Given the description of an element on the screen output the (x, y) to click on. 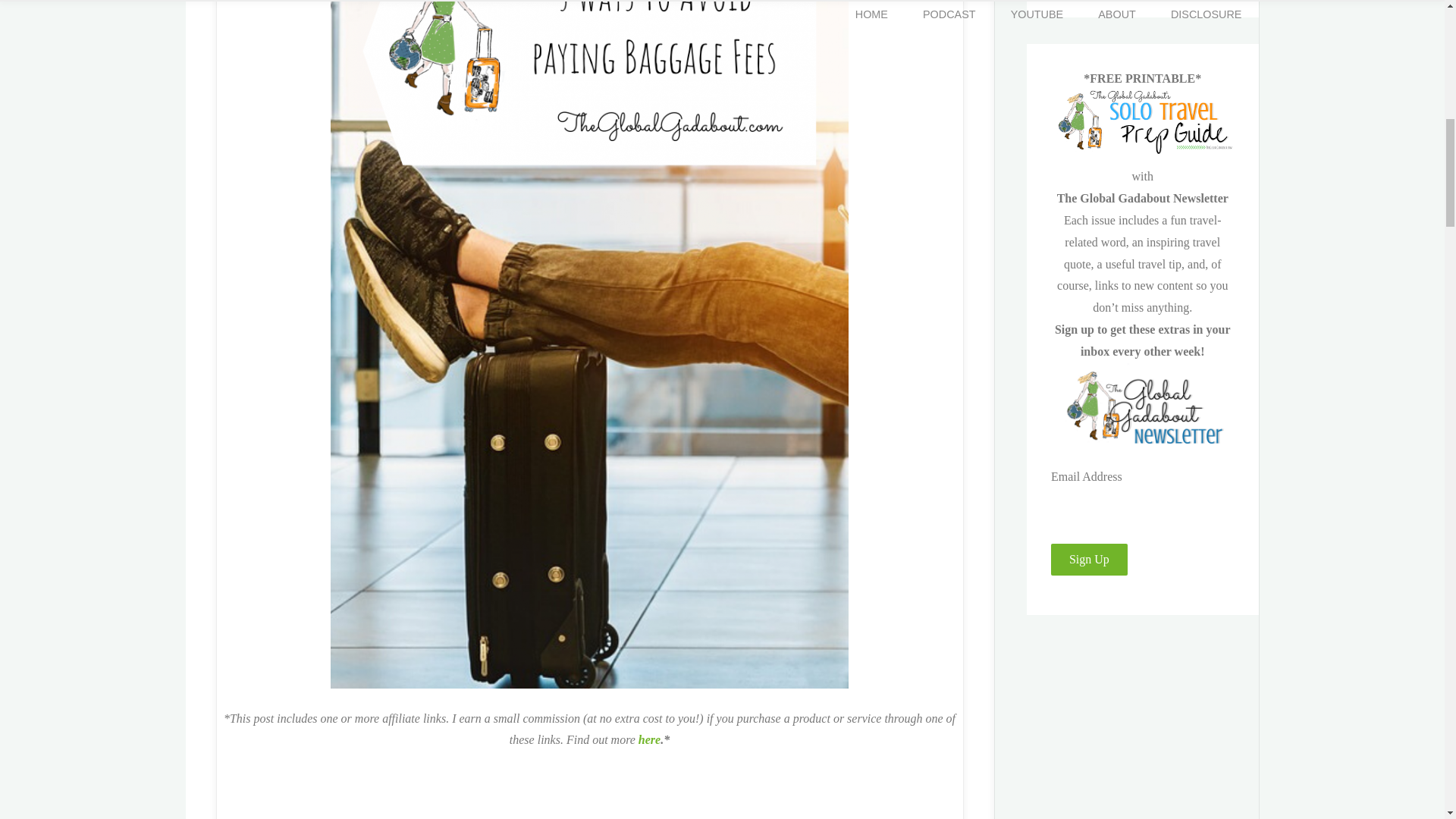
Sign Up (1088, 559)
here (650, 739)
